Given the description of an element on the screen output the (x, y) to click on. 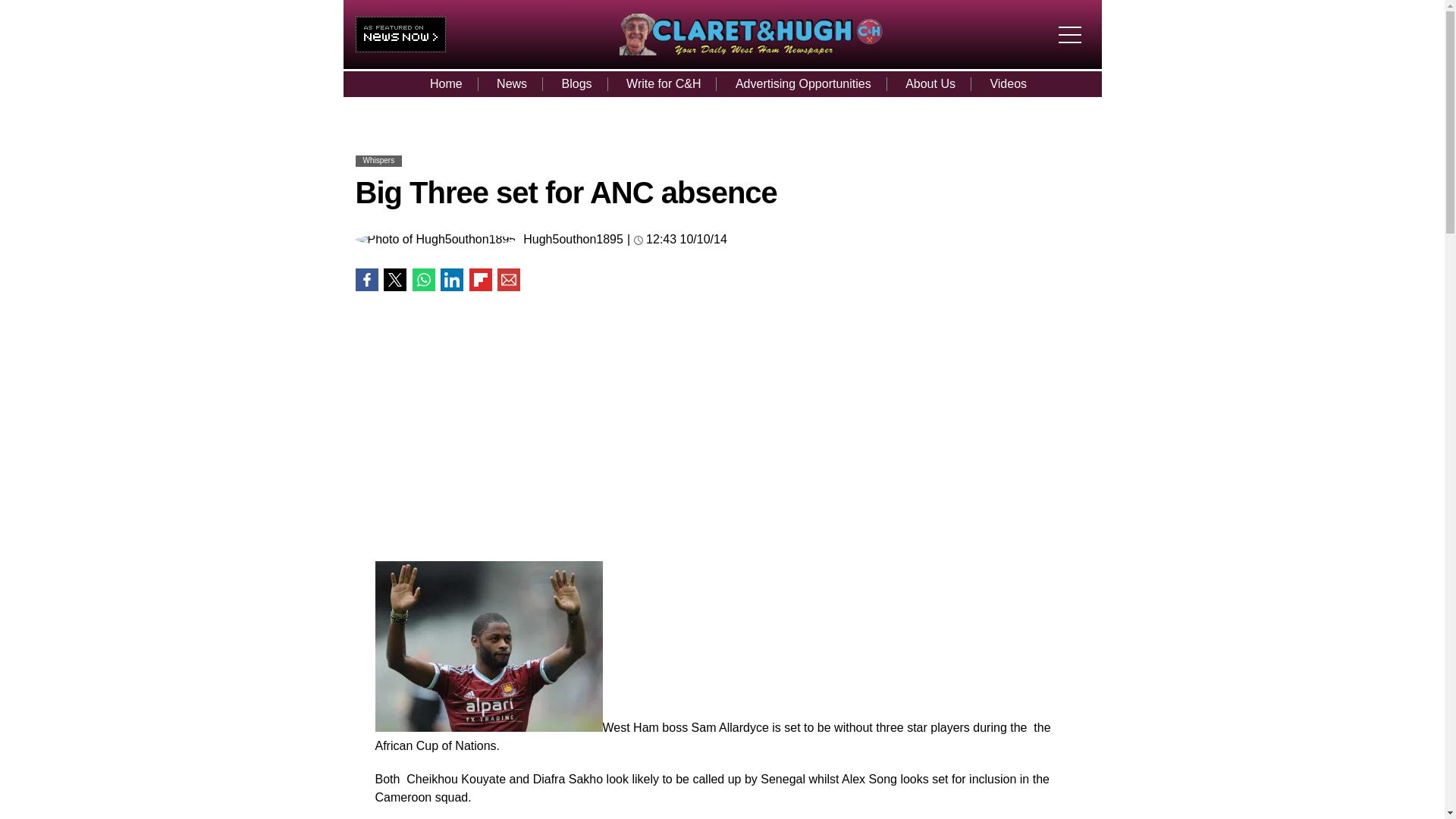
Blogs (577, 83)
share on LinkedIn (452, 279)
Whispers (378, 160)
share on Flipboard (480, 279)
News (511, 83)
share on WhatsApp (423, 279)
Videos (1008, 83)
share on Facebook (366, 279)
Home (445, 83)
share on Email (508, 279)
